Given the description of an element on the screen output the (x, y) to click on. 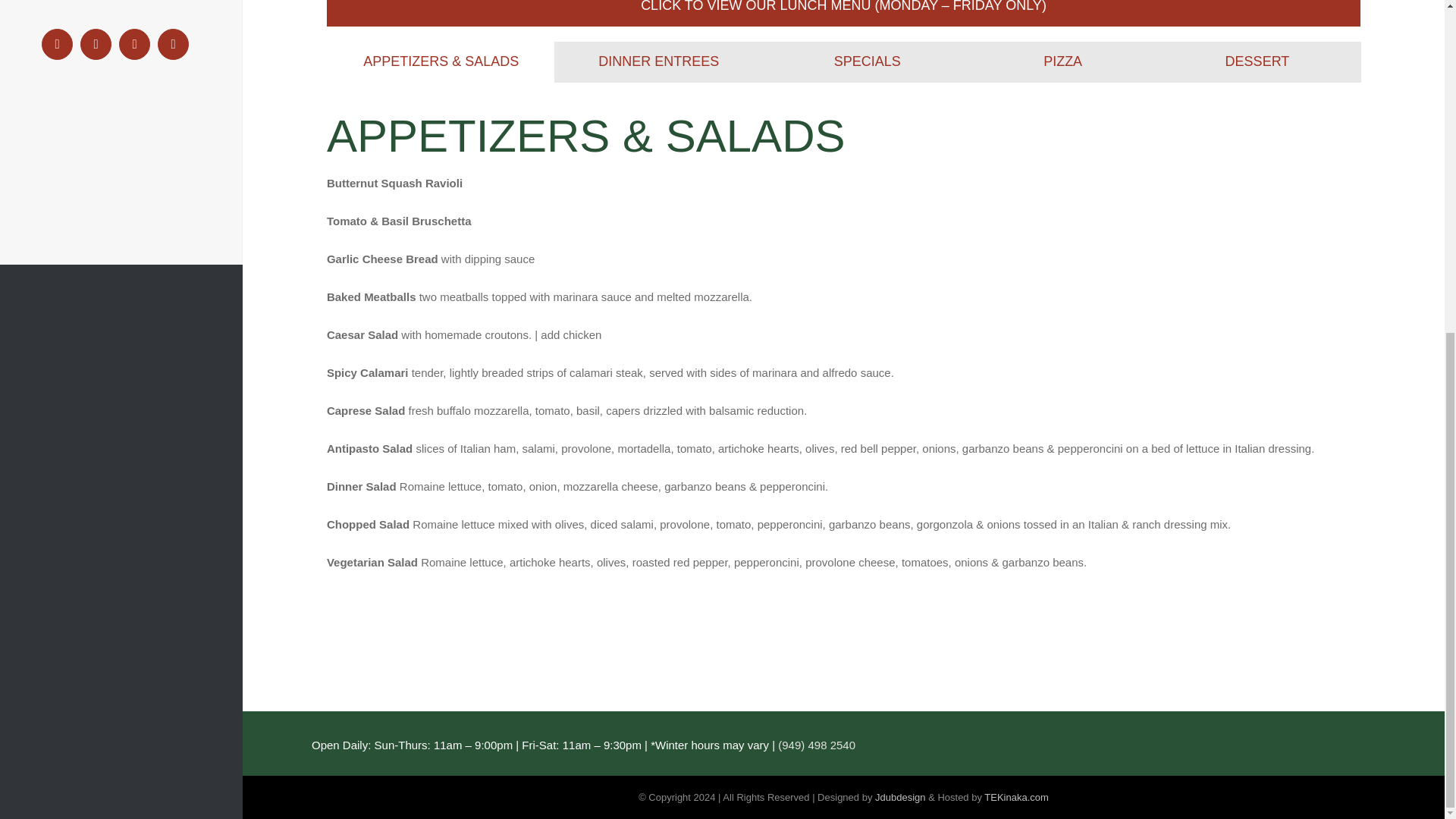
TEKinaka.com (1016, 797)
Jdubdesign (900, 797)
Twitter (134, 43)
DINNER ENTREES (657, 61)
DESSERT (1257, 61)
SPECIALS (866, 61)
Yelp (173, 43)
Twitter (134, 43)
Yelp (173, 43)
PIZZA (1062, 61)
